Given the description of an element on the screen output the (x, y) to click on. 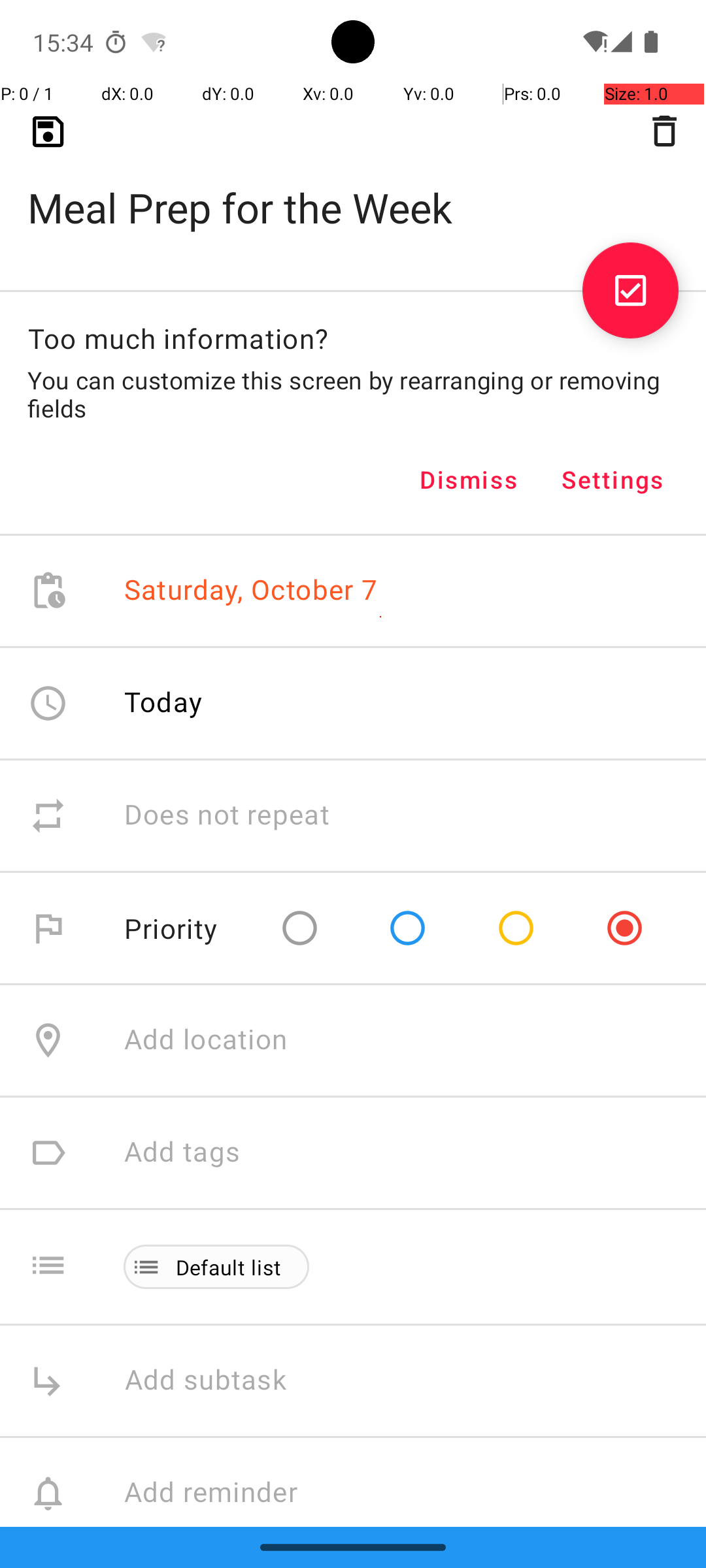
Saturday, October 7 Element type: android.widget.TextView (250, 590)
